Given the description of an element on the screen output the (x, y) to click on. 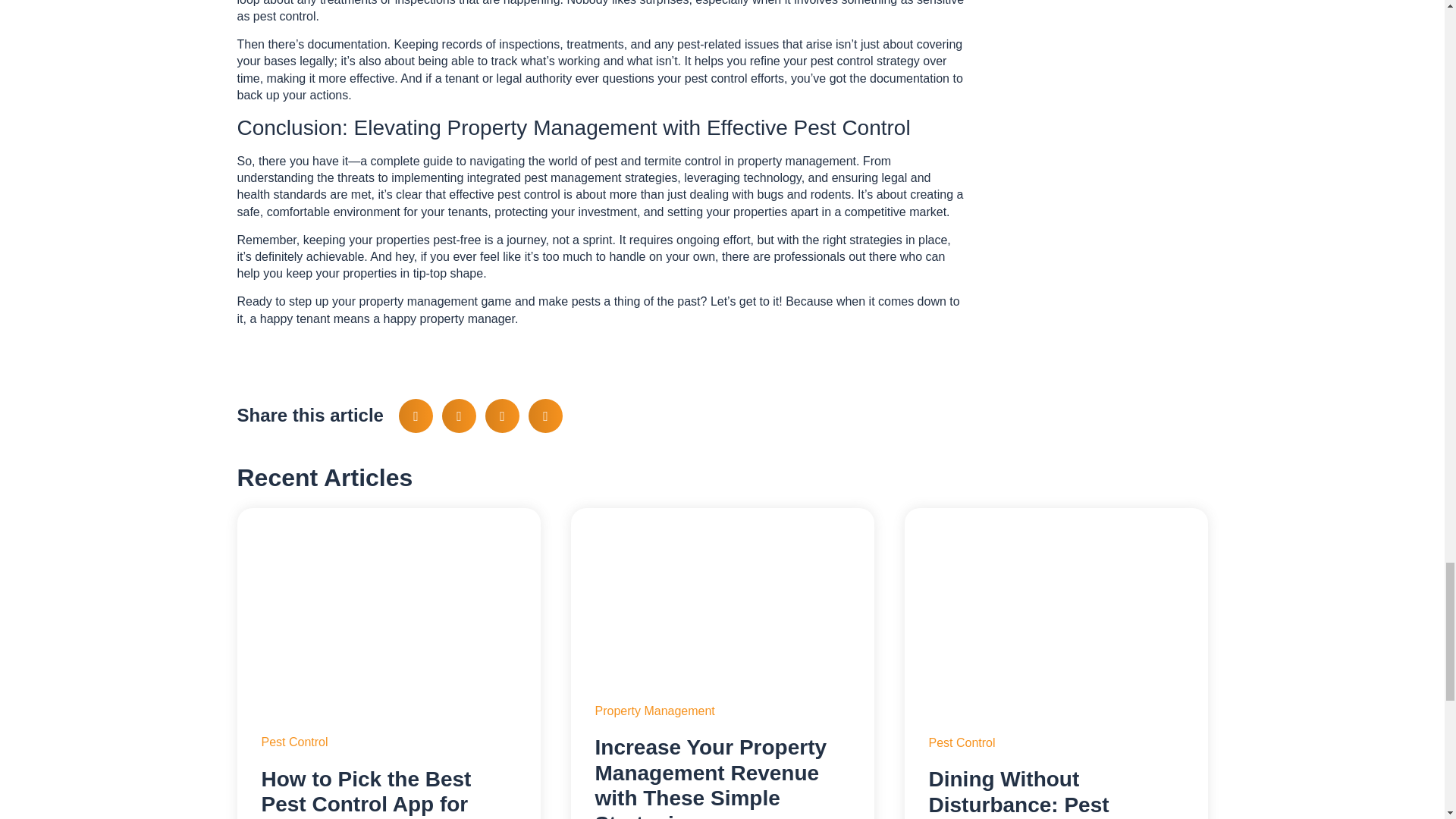
How to Pick the Best Pest Control App for Your Needs (365, 793)
